Given the description of an element on the screen output the (x, y) to click on. 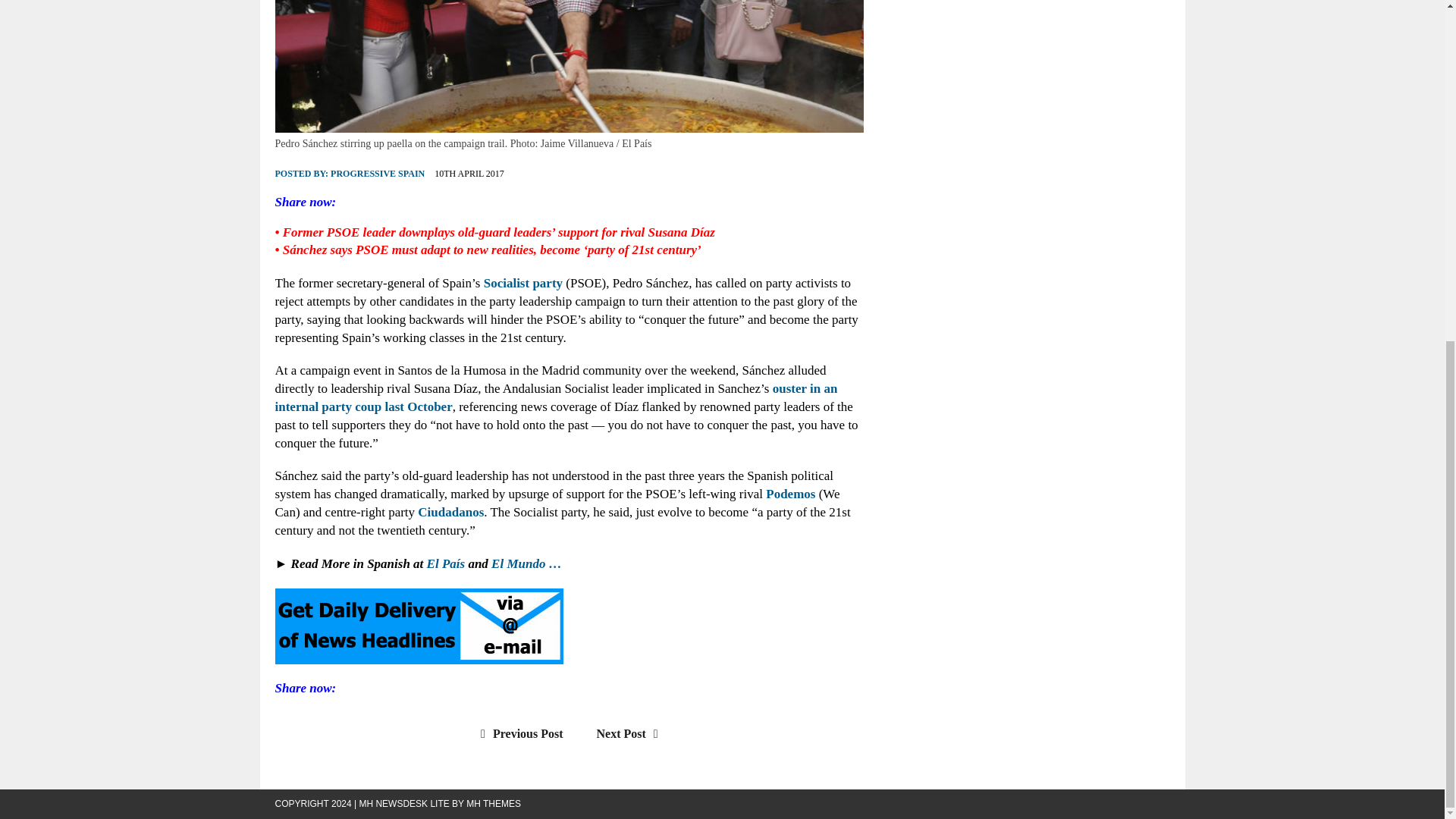
Podemos (790, 493)
ouster in an internal party coup last October (556, 397)
Socialist party (522, 283)
PROGRESSIVE SPAIN (377, 173)
Ciudadanos (450, 512)
